Given the description of an element on the screen output the (x, y) to click on. 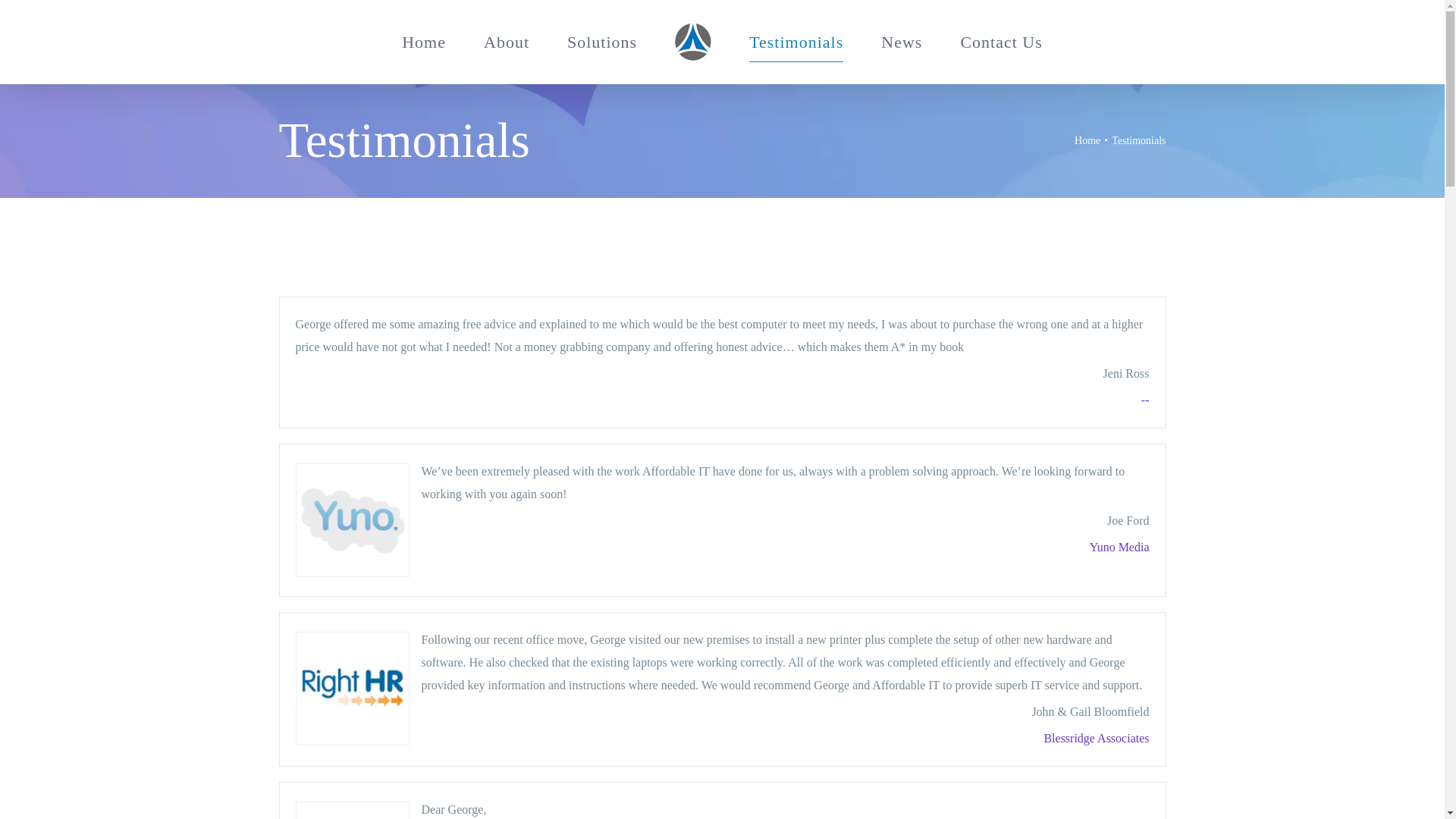
News (900, 41)
Contact Us (1000, 41)
Blessridge Associates (1095, 738)
Home (1087, 140)
Testimonials (796, 41)
Yuno Media (1119, 546)
Home (423, 41)
Solutions (602, 41)
About (506, 41)
